Given the description of an element on the screen output the (x, y) to click on. 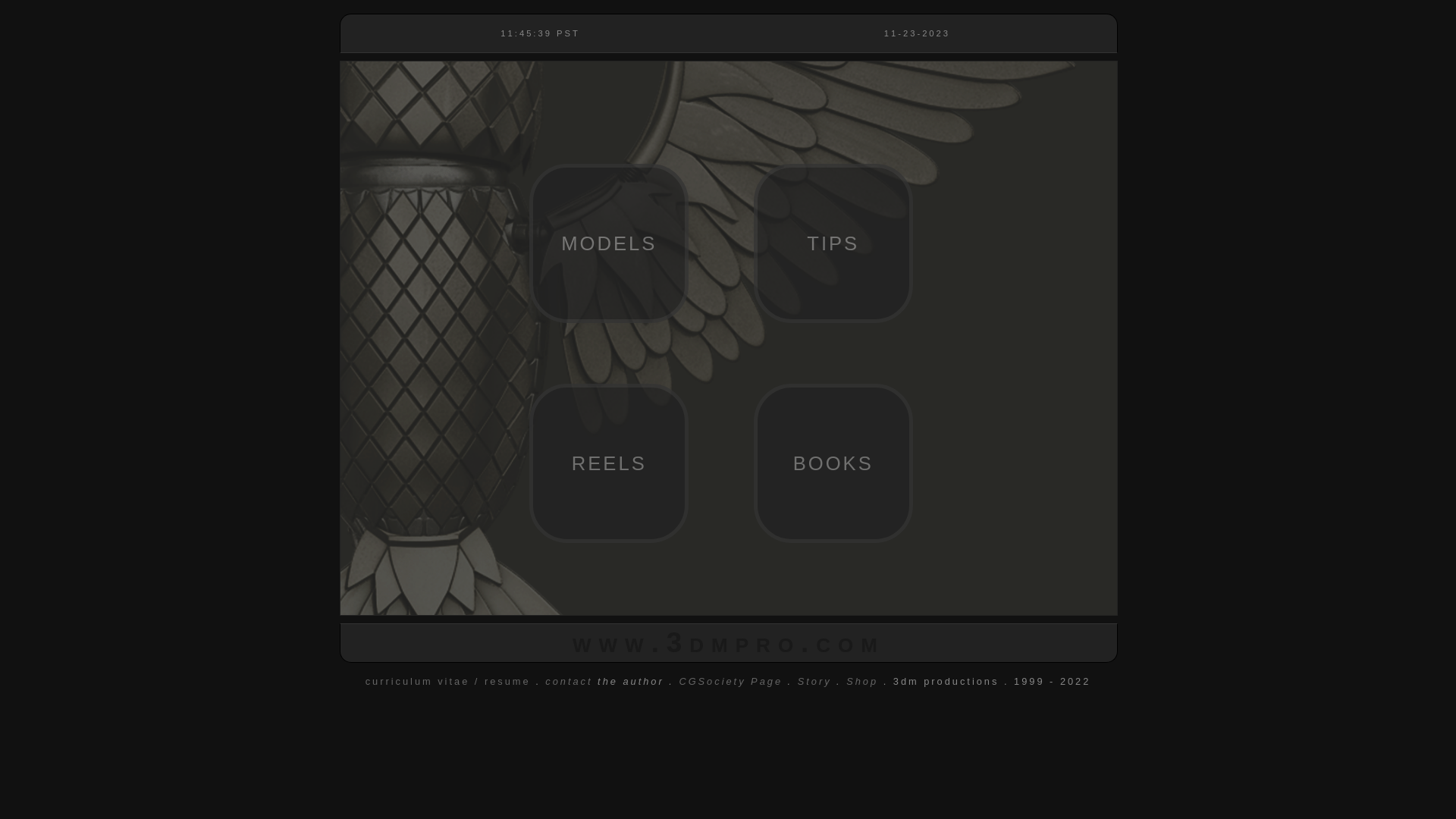
Story Element type: text (814, 681)
contact Element type: text (568, 681)
curriculum vitae / resume Element type: text (447, 681)
CGSociety Page Element type: text (730, 681)
Shop Element type: text (862, 681)
